Given the description of an element on the screen output the (x, y) to click on. 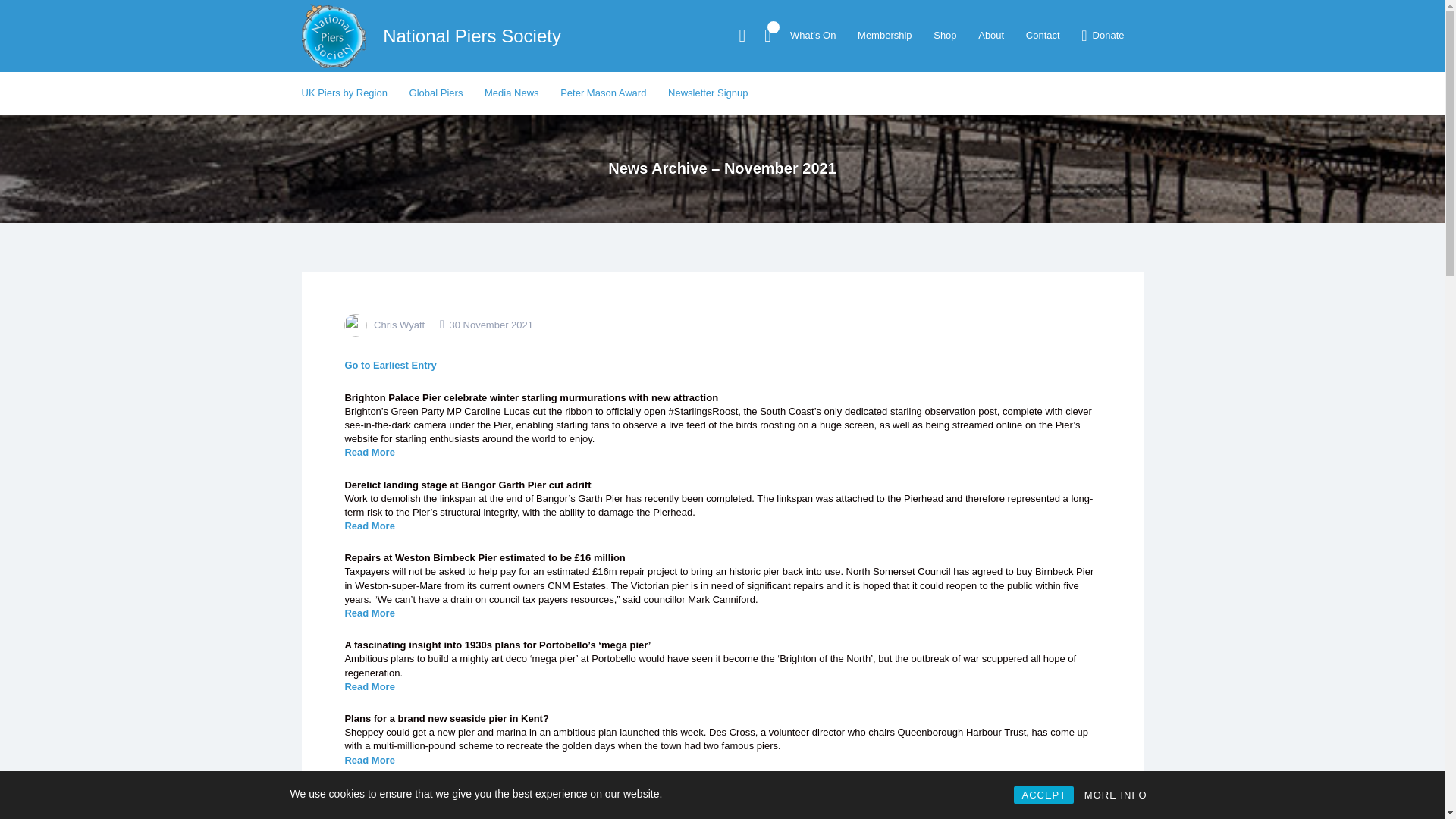
ACCEPT (1043, 794)
Media News (511, 93)
Read More (368, 686)
Read More (368, 451)
MORE INFO (1115, 794)
National Piers Society (471, 35)
Peter Mason Award (603, 93)
Donate (1099, 35)
Newsletter Signup (708, 93)
Go to Earliest Entry (389, 365)
Read More (368, 613)
Chris Wyatt (399, 324)
Read More (368, 759)
Read More (368, 525)
Global Piers (436, 93)
